Given the description of an element on the screen output the (x, y) to click on. 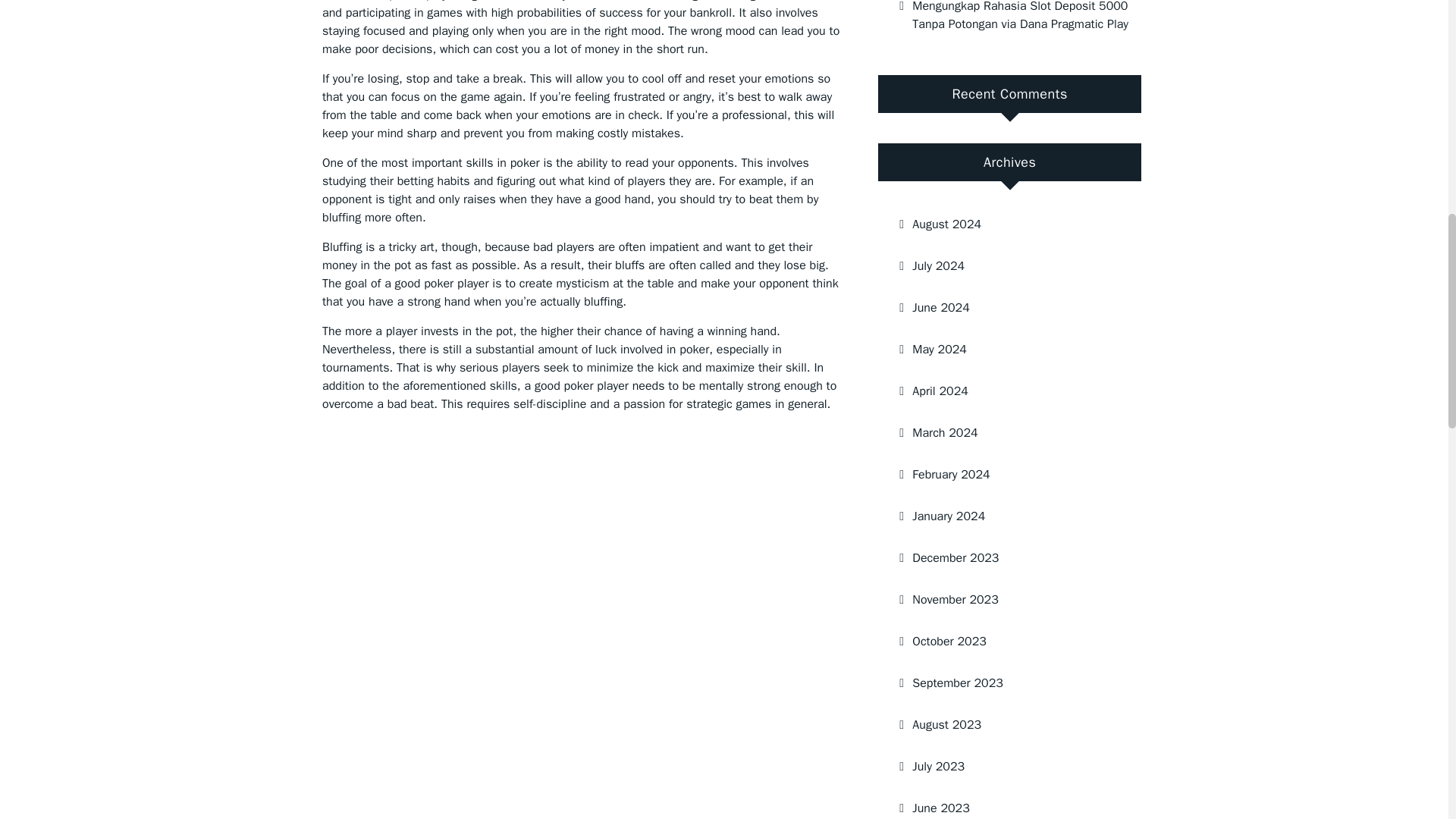
November 2023 (1003, 599)
September 2023 (1003, 682)
August 2023 (1003, 724)
June 2024 (1003, 307)
May 2024 (1003, 349)
February 2024 (1003, 474)
December 2023 (1003, 557)
July 2024 (1003, 265)
October 2023 (1003, 640)
April 2024 (1003, 391)
